Given the description of an element on the screen output the (x, y) to click on. 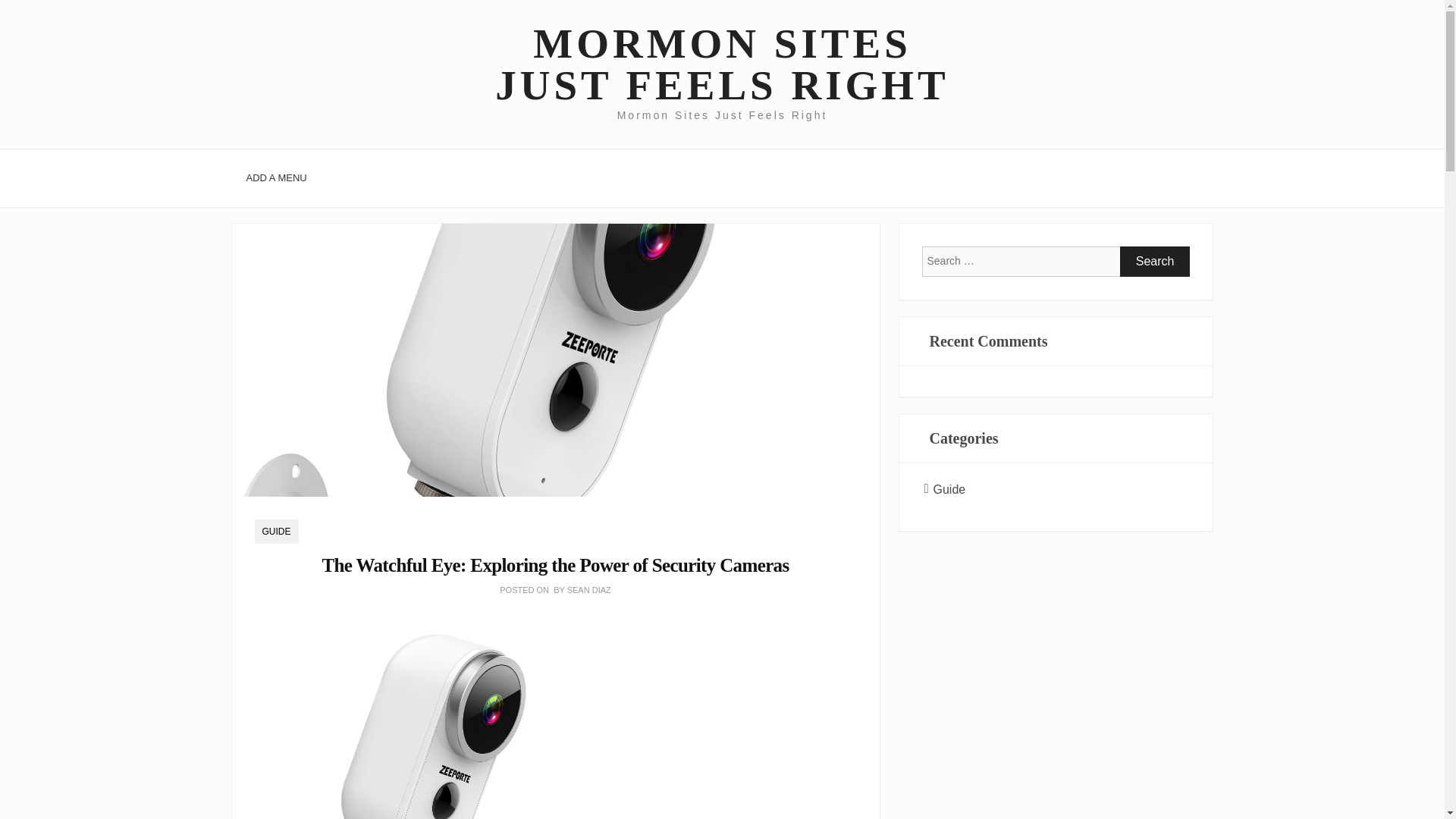
Guide (949, 489)
GUIDE (276, 531)
MORMON SITES JUST FEELS RIGHT (721, 64)
Search (1155, 261)
Search (1155, 261)
ADD A MENU (275, 177)
Search (1155, 261)
SEAN DIAZ (589, 590)
